Given the description of an element on the screen output the (x, y) to click on. 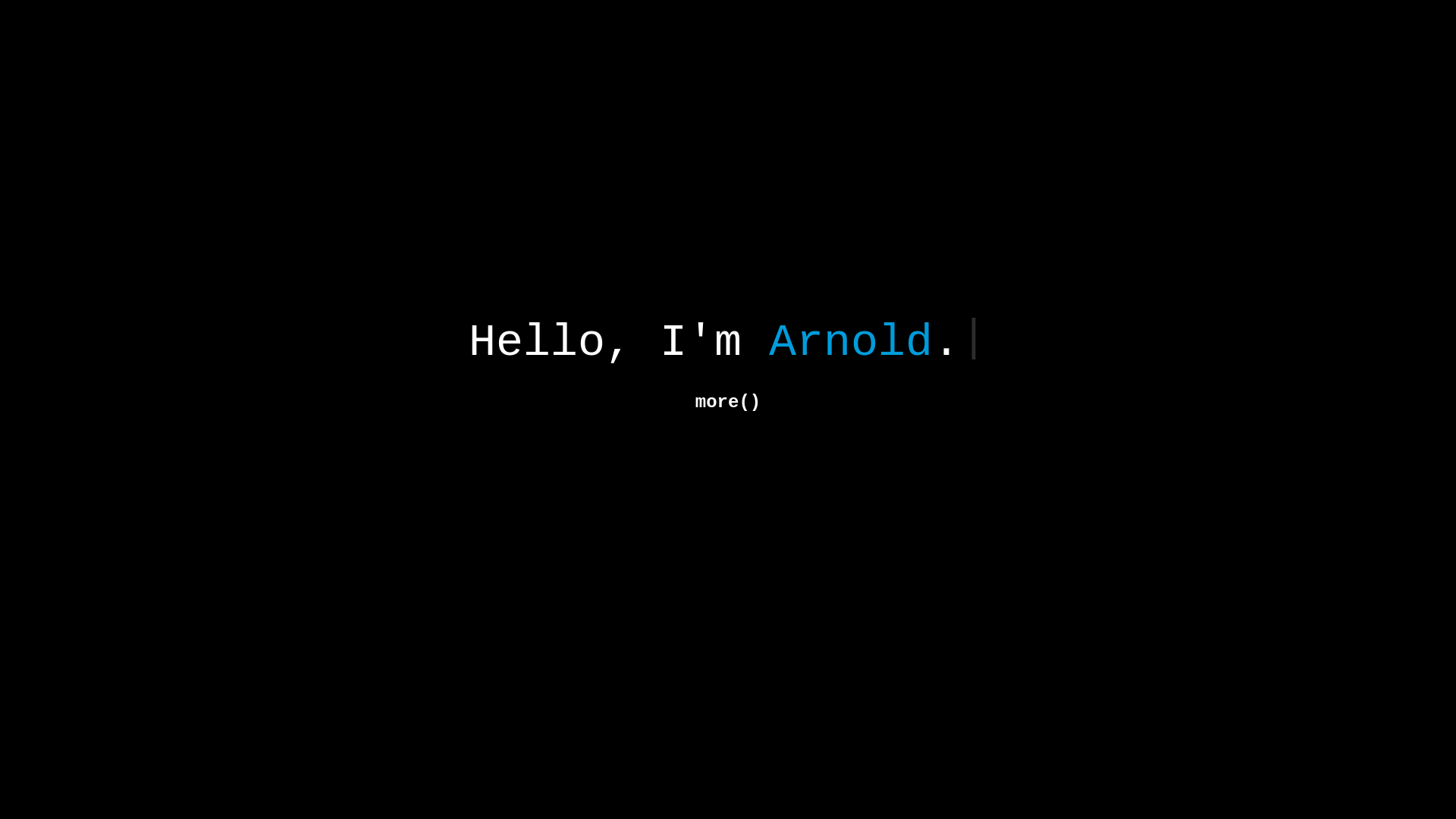
more() Element type: text (727, 402)
